Given the description of an element on the screen output the (x, y) to click on. 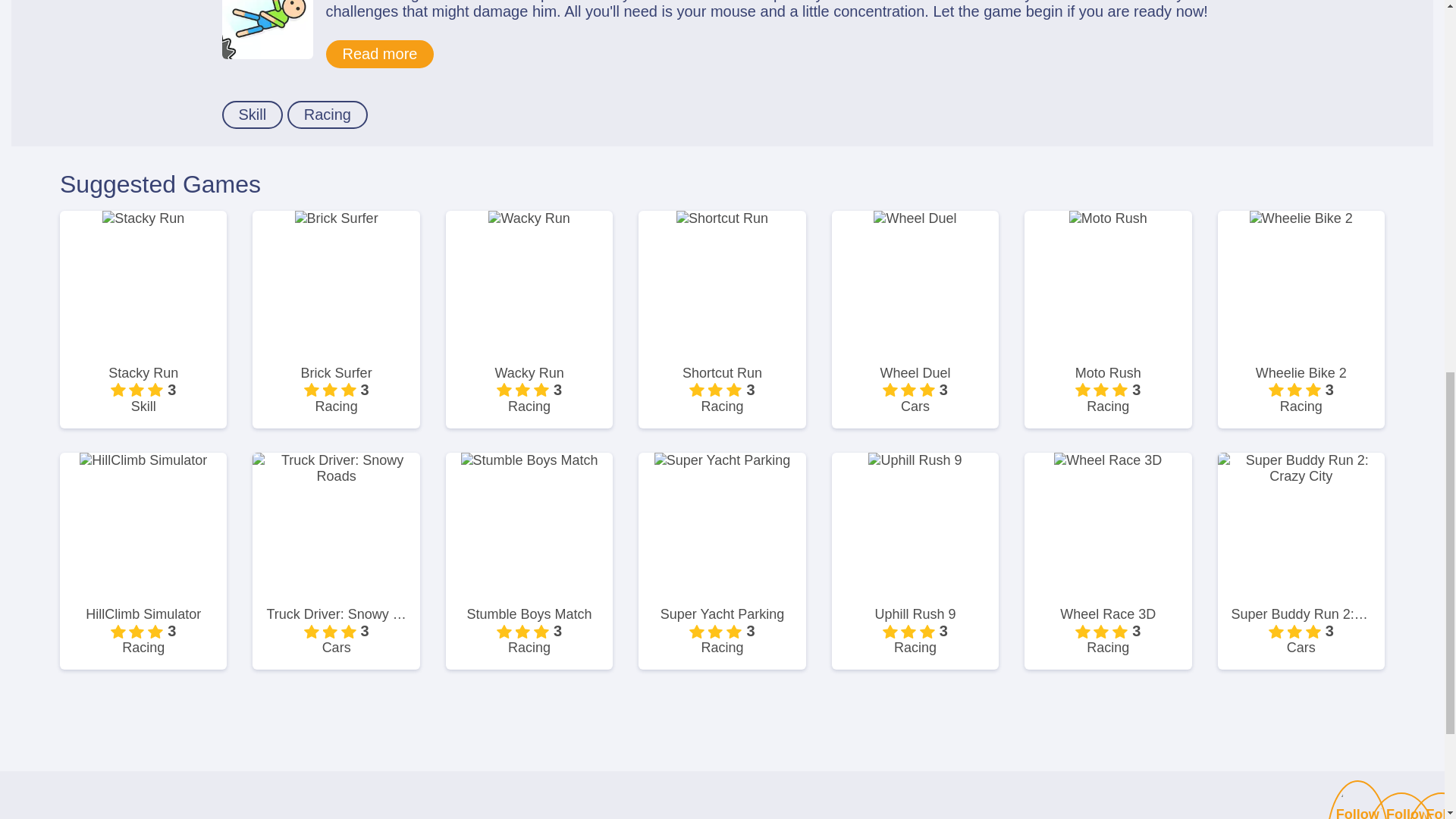
Racing (327, 114)
Brick Surfer (336, 373)
Stacky Run (143, 373)
Skill (251, 114)
